Given the description of an element on the screen output the (x, y) to click on. 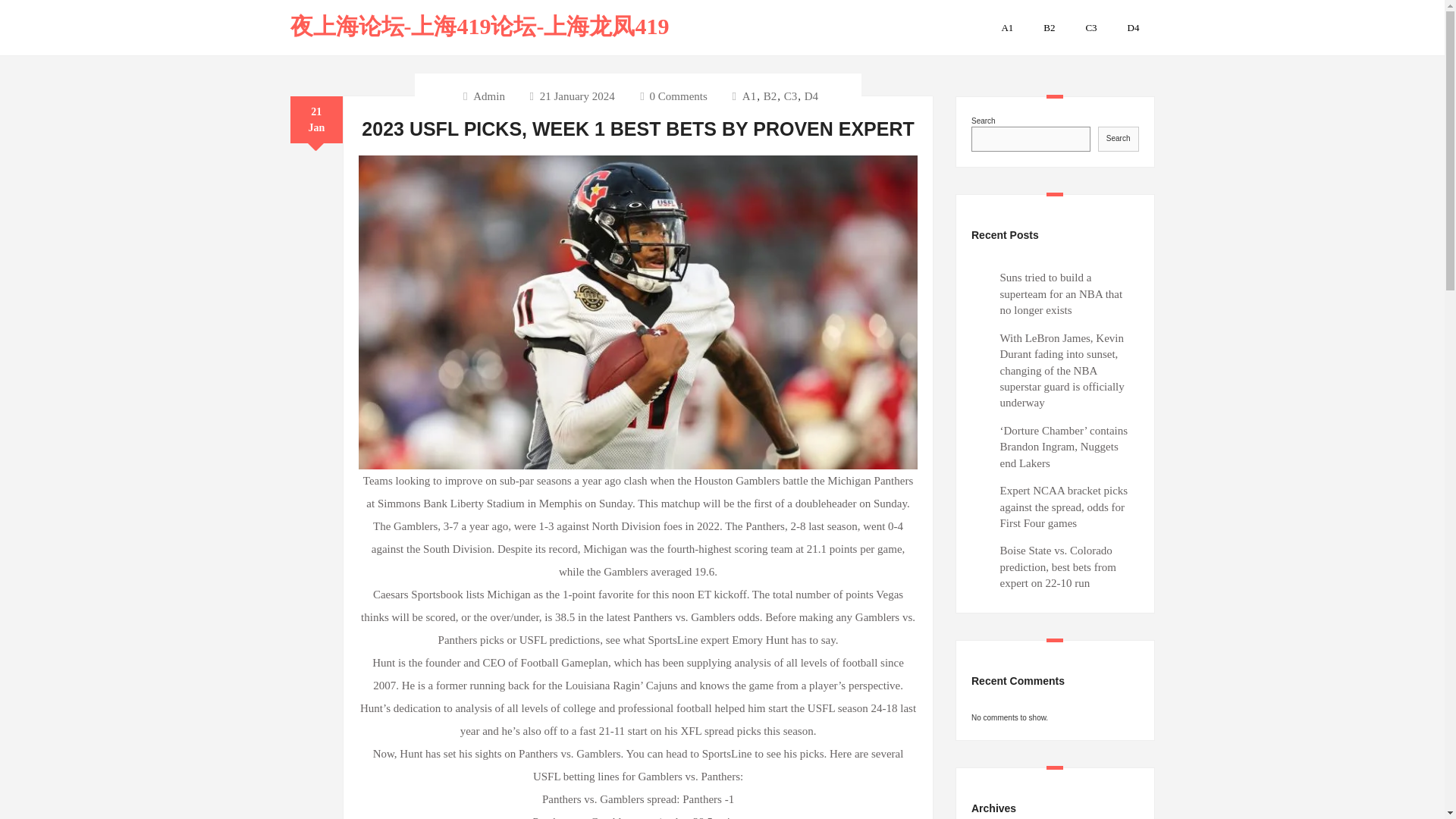
D4 (810, 96)
C3 (790, 96)
0 Comments (673, 96)
B2 (769, 96)
D4 (1133, 27)
Admin (488, 96)
C3 (1091, 27)
A1 (1006, 27)
A1 (749, 96)
Search (1117, 138)
B2 (1048, 27)
